Given the description of an element on the screen output the (x, y) to click on. 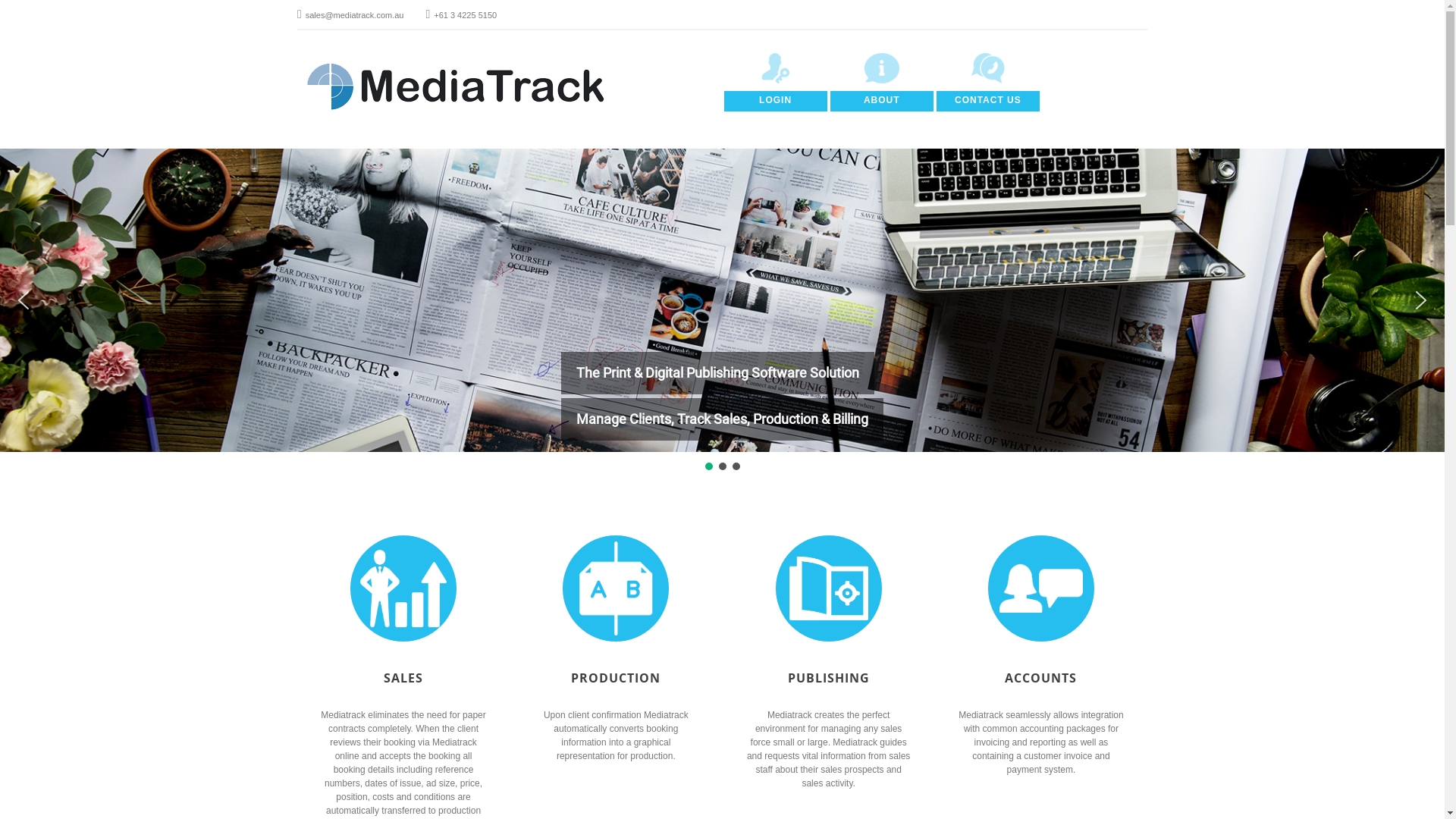
ABOUT Element type: text (881, 101)
+61 3 4225 5150 Element type: text (460, 14)
sales@mediatrack.com.au Element type: text (350, 14)
CONTACT US Element type: text (987, 101)
LOGIN Element type: text (774, 101)
